Given the description of an element on the screen output the (x, y) to click on. 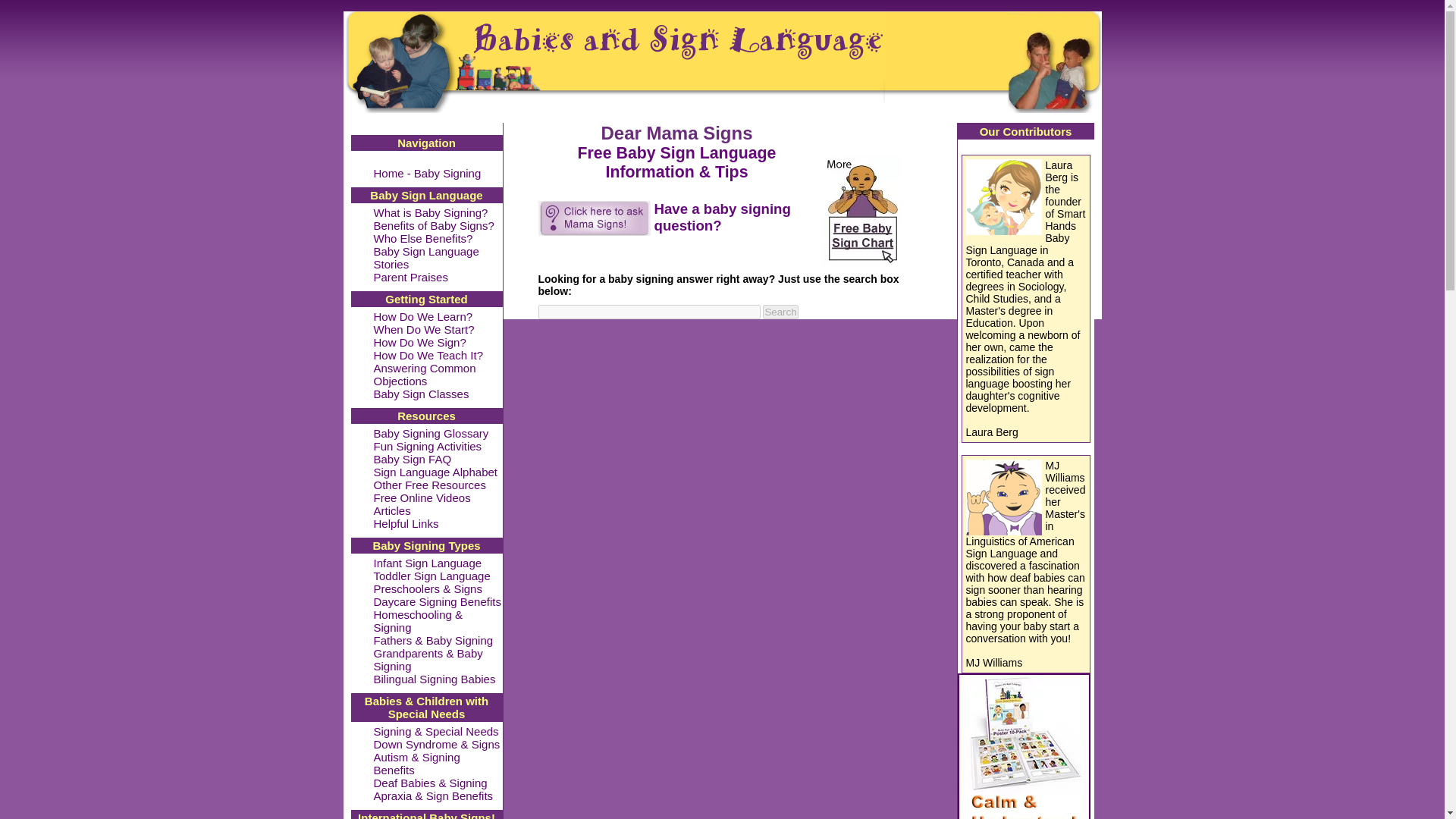
Answering Common Objections (424, 375)
How Do We Learn? (421, 317)
Benefits of Baby Signs? (432, 226)
Toddler Sign Language (430, 576)
What is Baby Signing? (429, 213)
Fun Signing Activities (426, 446)
Search (779, 311)
Articles (391, 511)
Other Free Resources (428, 485)
Bilingual Signing Babies (433, 679)
